Given the description of an element on the screen output the (x, y) to click on. 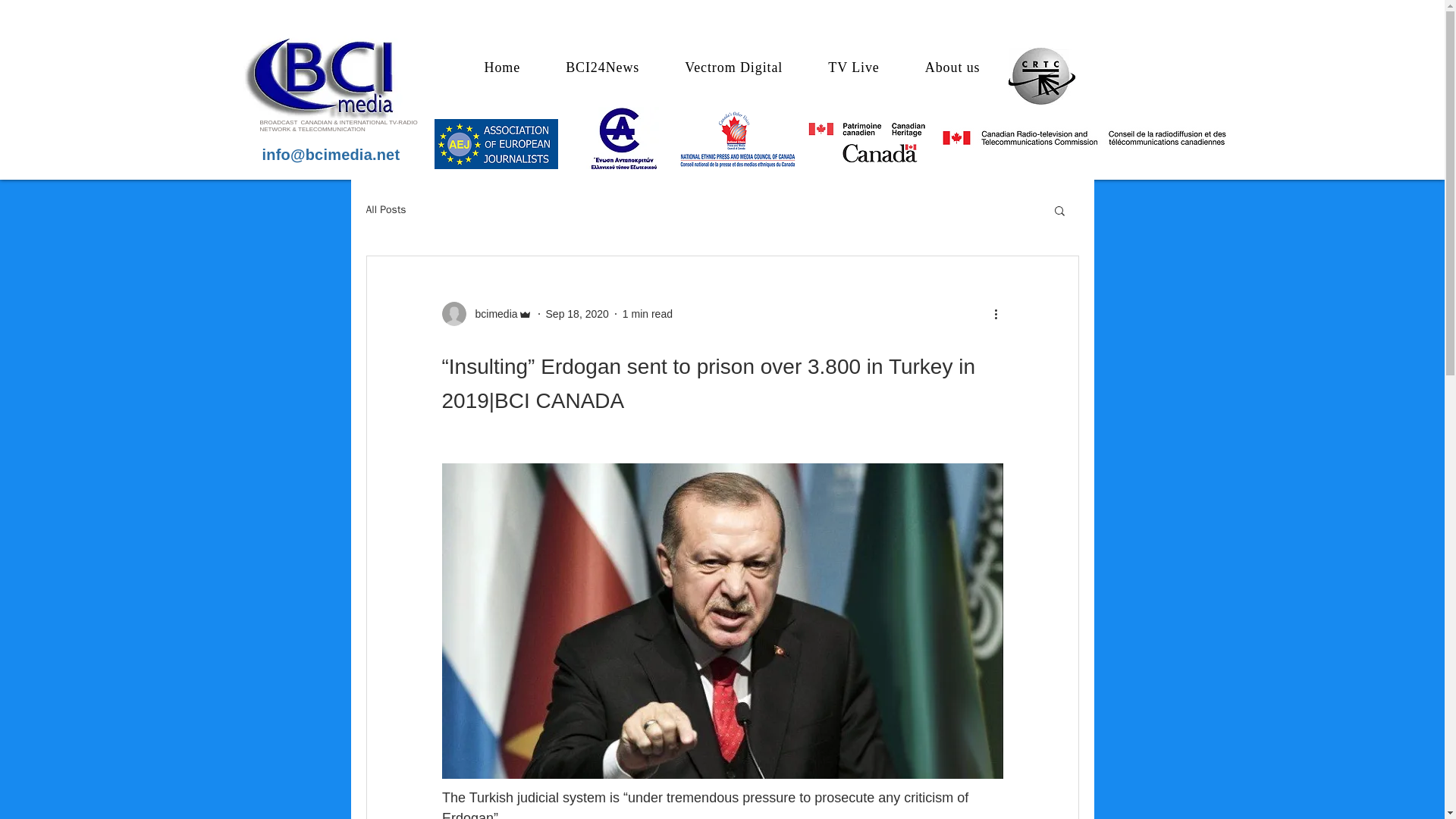
Home (502, 67)
TV Live (853, 67)
About us (952, 67)
bcimedia (486, 313)
bcimedia (490, 314)
Vectrom Digital (733, 67)
All Posts (385, 210)
Sep 18, 2020 (577, 313)
1 min read (647, 313)
BCI24News (602, 67)
